Given the description of an element on the screen output the (x, y) to click on. 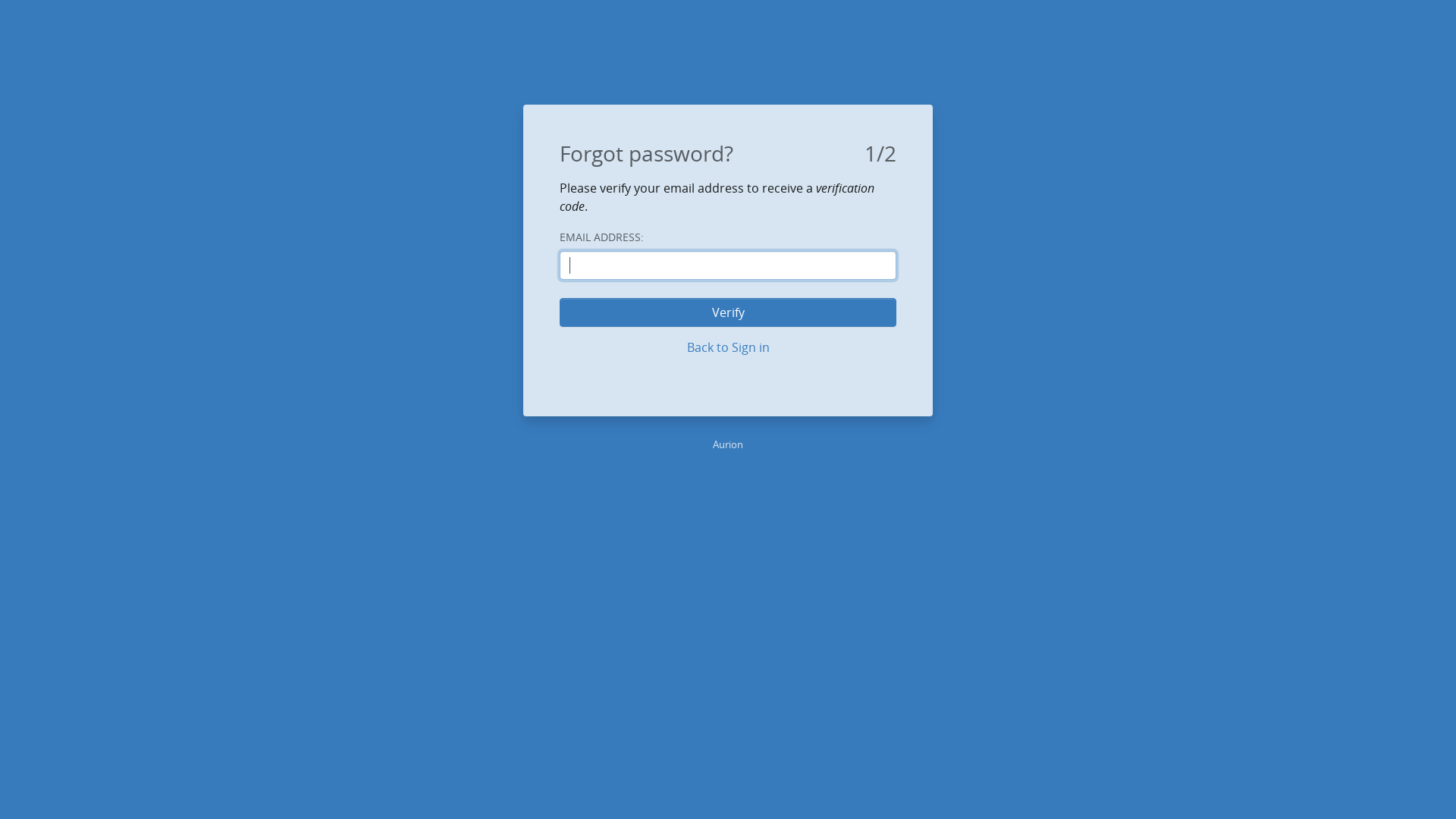
Verify Element type: text (727, 312)
Back to Sign in Element type: text (727, 346)
